Given the description of an element on the screen output the (x, y) to click on. 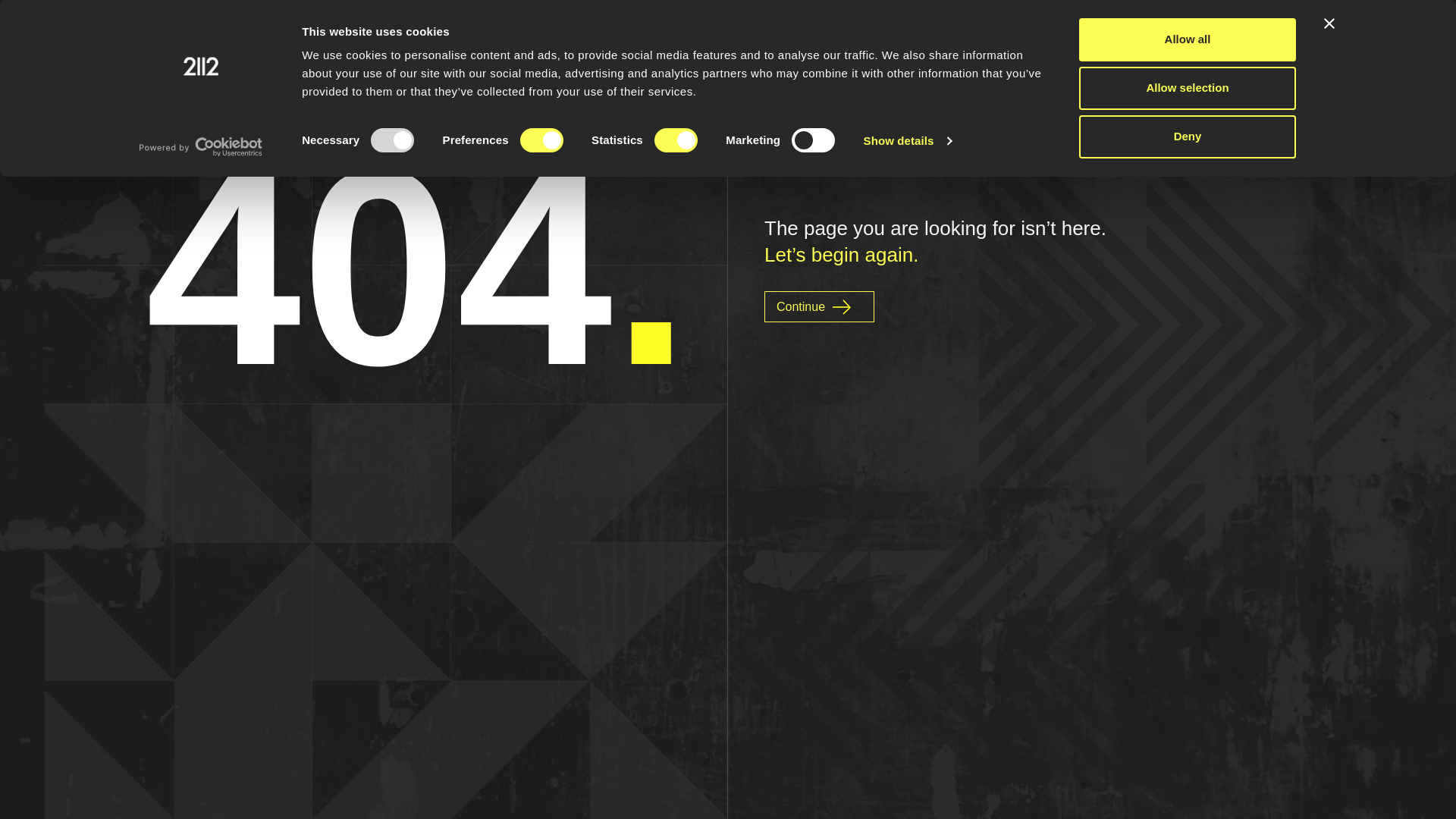
Allow selection Element type: text (1187, 87)
Show details Element type: text (907, 140)
Allow all Element type: text (1187, 39)
Deny Element type: text (1187, 136)
Continue Element type: text (819, 306)
